Given the description of an element on the screen output the (x, y) to click on. 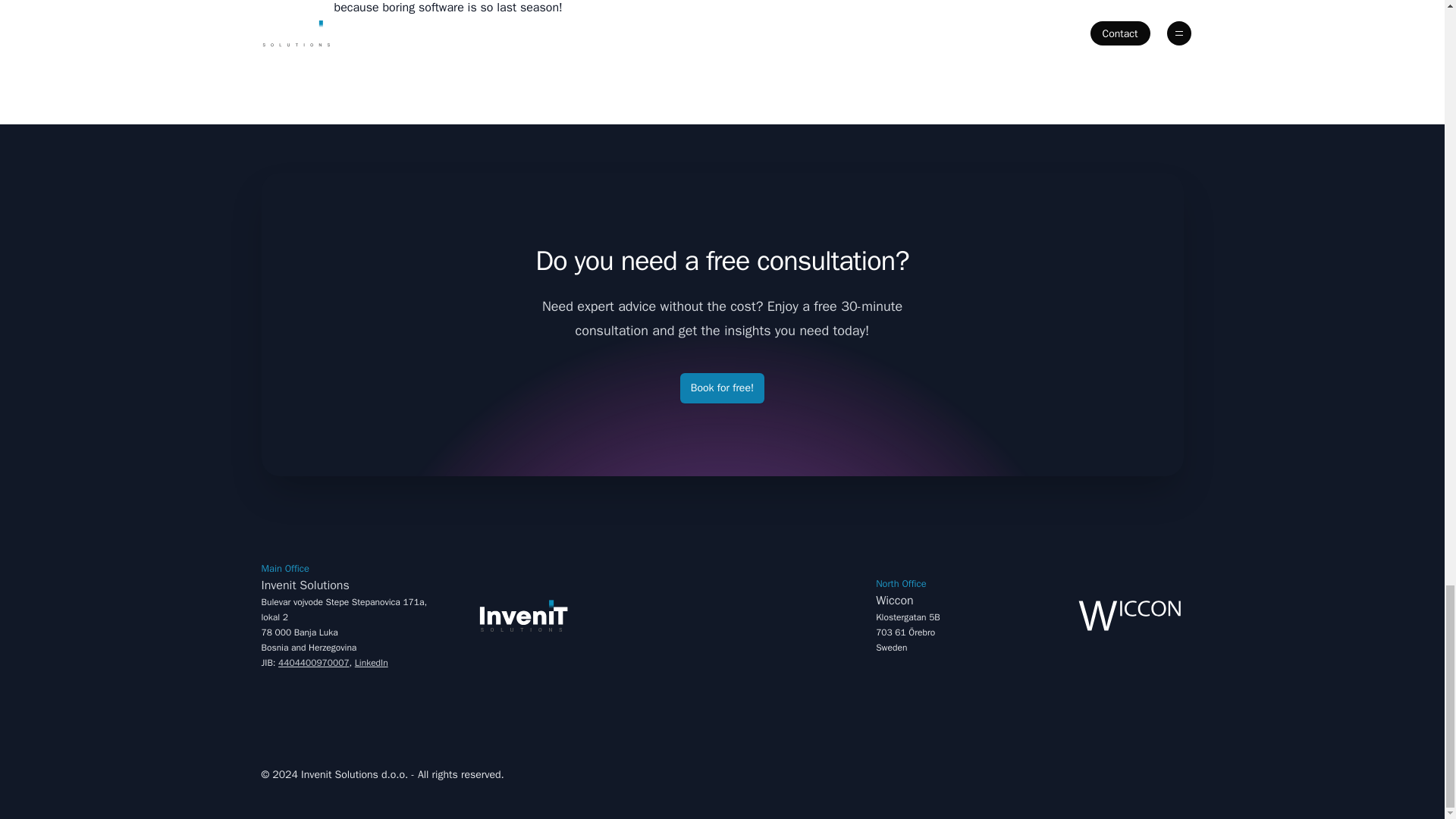
4404400970007 (313, 662)
LinkedIn (344, 576)
Book for free! (951, 592)
